Given the description of an element on the screen output the (x, y) to click on. 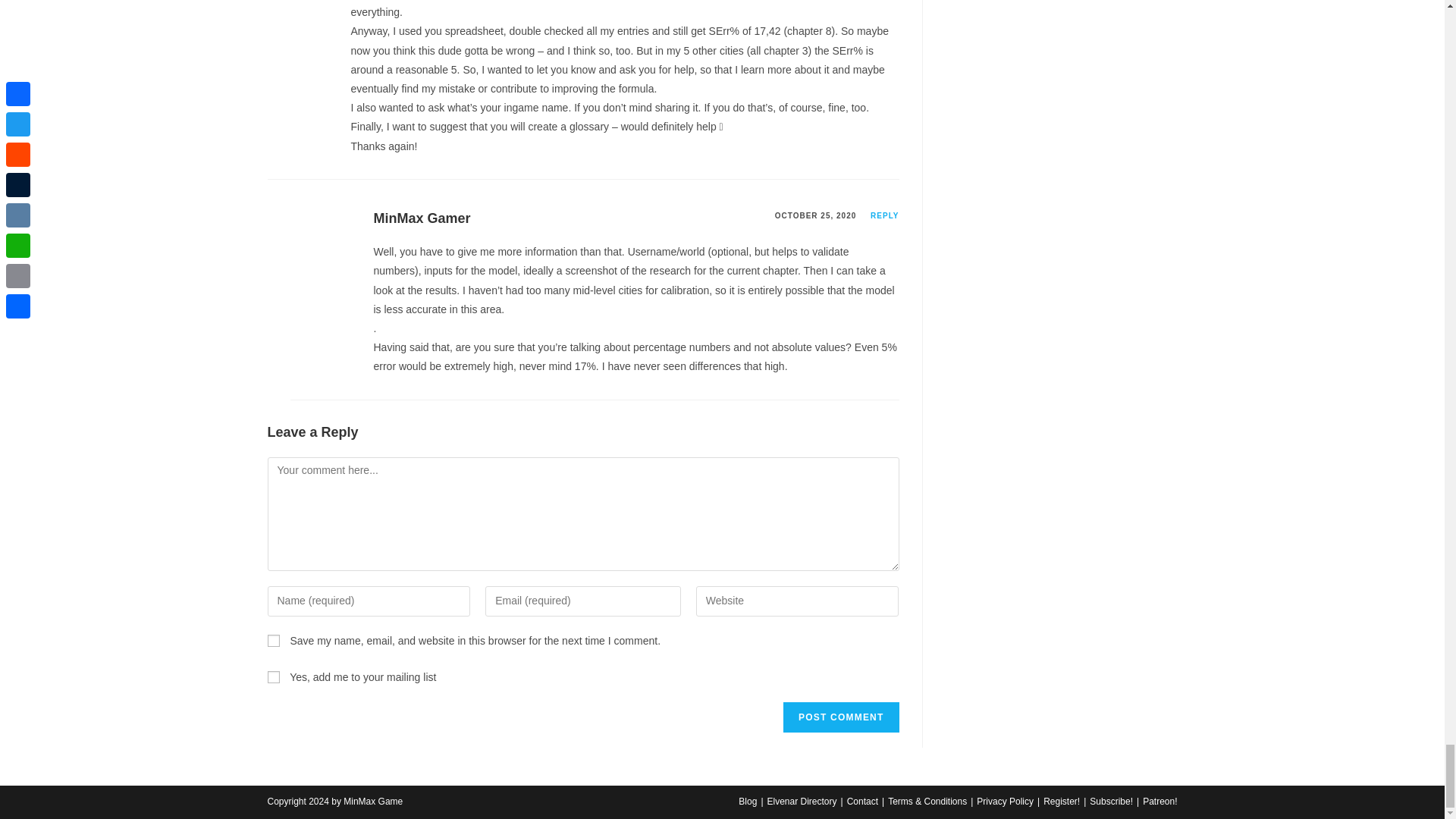
Post Comment (840, 716)
1 (272, 676)
yes (272, 640)
